Given the description of an element on the screen output the (x, y) to click on. 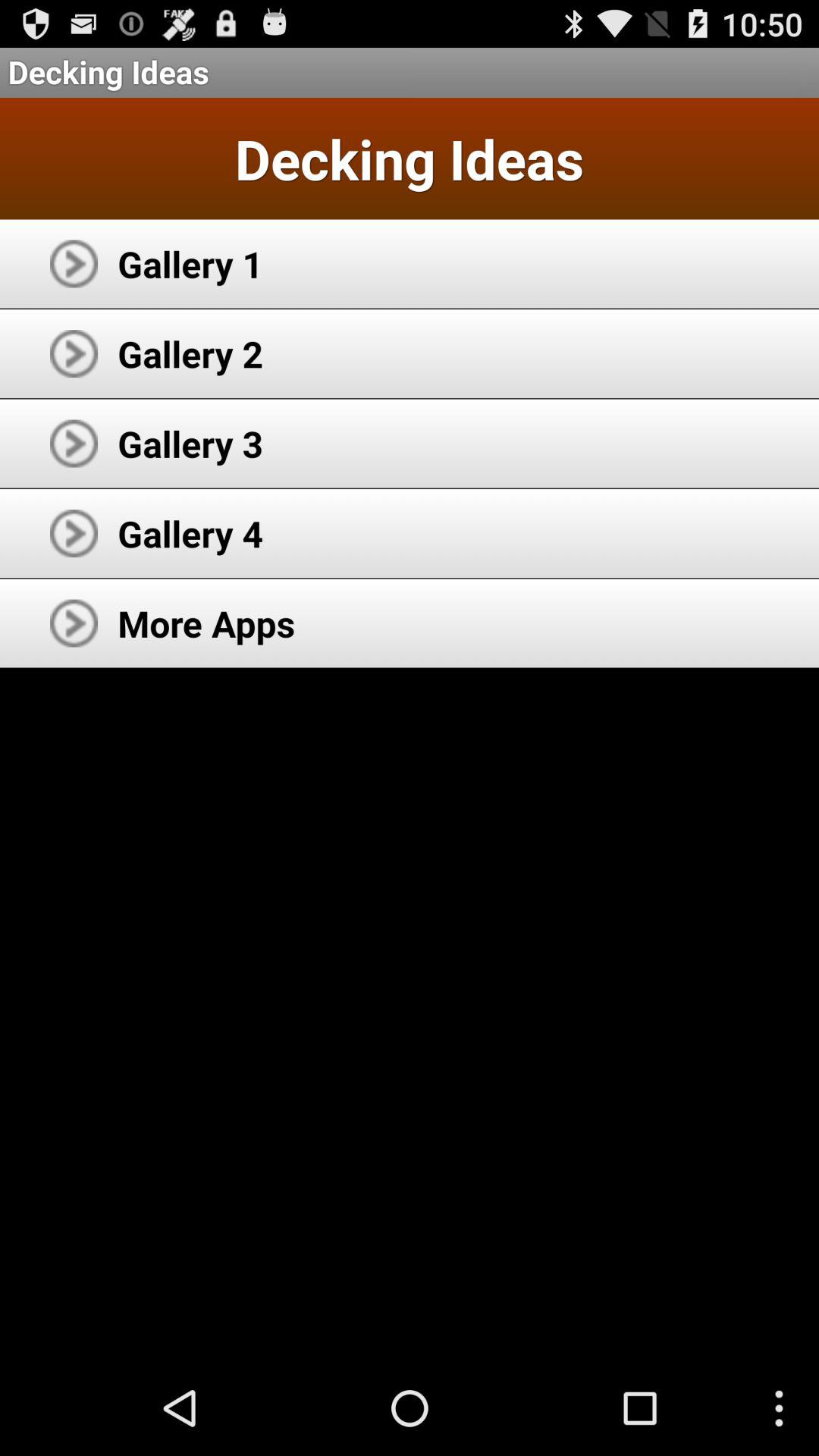
turn off the app above the gallery 2 icon (190, 263)
